Given the description of an element on the screen output the (x, y) to click on. 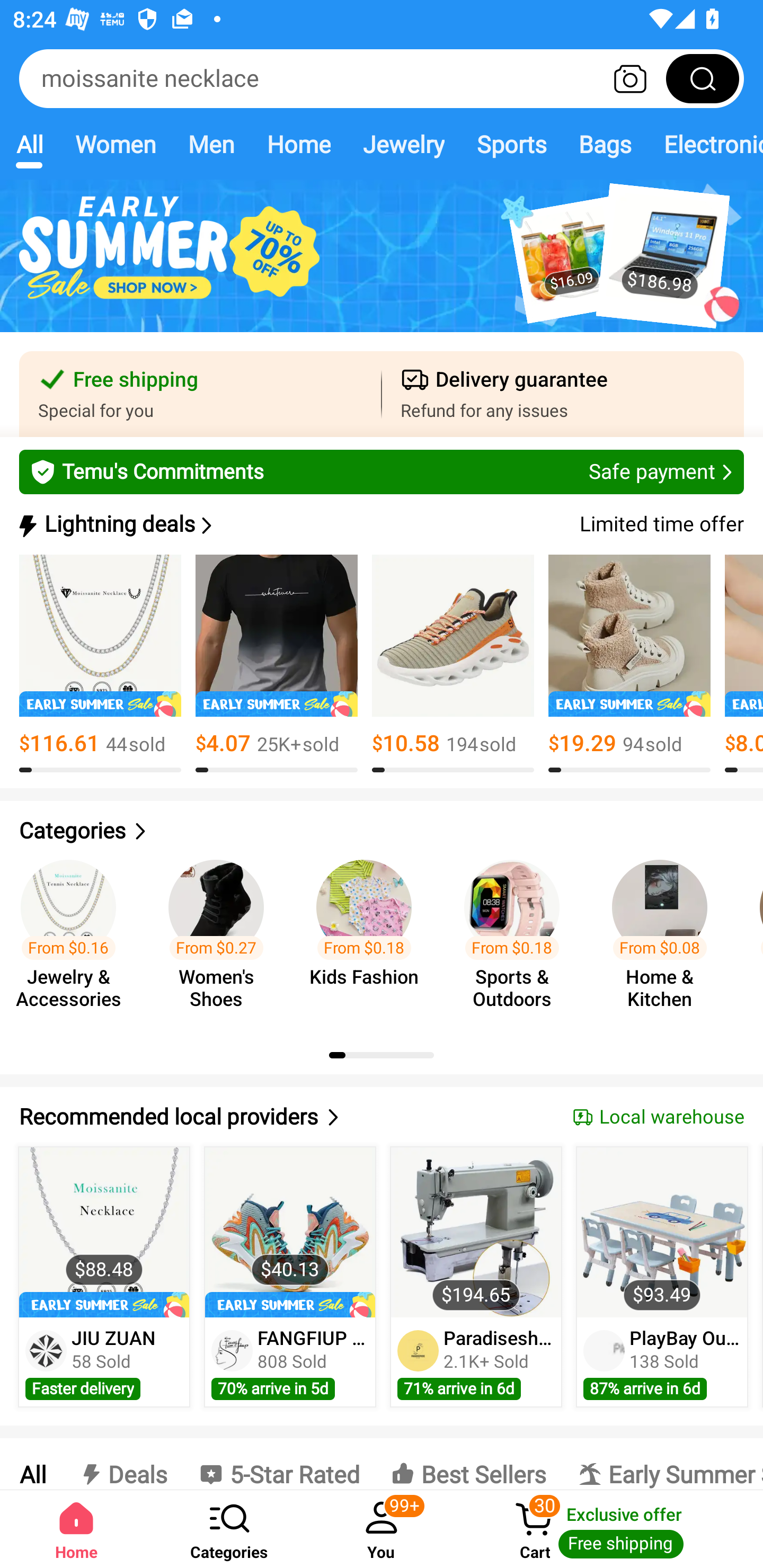
moissanite necklace (381, 78)
All (29, 144)
Women (115, 144)
Men (211, 144)
Home (298, 144)
Jewelry (403, 144)
Sports (511, 144)
Bags (605, 144)
Electronics (705, 144)
$16.09 $186.98 (381, 265)
Free shipping Special for you (200, 394)
Delivery guarantee Refund for any issues (562, 394)
Temu's Commitments (381, 471)
Lightning deals Lightning deals Limited time offer (379, 524)
$116.61 44￼sold 8.0 (100, 664)
$4.07 25K+￼sold 8.0 (276, 664)
$10.58 194￼sold 8.0 (453, 664)
$19.29 94￼sold 8.0 (629, 664)
Categories (381, 830)
From $0.16 Jewelry & Accessories (74, 936)
From $0.27 Women's Shoes (222, 936)
From $0.18 Kids Fashion (369, 936)
From $0.18 Sports & Outdoors (517, 936)
From $0.08 Home & Kitchen (665, 936)
$88.48 JIU ZUAN 58 Sold Faster delivery (103, 1276)
$194.65 Paradiseshop 2.1K+ Sold 71% arrive in 6d (475, 1276)
$93.49 PlayBay Outlet 138 Sold 87% arrive in 6d (661, 1276)
$88.48 (104, 1232)
$40.13 (290, 1232)
$194.65 (475, 1232)
$93.49 (661, 1232)
All (32, 1463)
Deals Deals Deals (122, 1463)
5-Star Rated 5-Star Rated 5-Star Rated (279, 1463)
Best Sellers Best Sellers Best Sellers (468, 1463)
Home (76, 1528)
Categories (228, 1528)
You ‎99+‎ You (381, 1528)
Cart 30 Cart Exclusive offer (610, 1528)
